Given the description of an element on the screen output the (x, y) to click on. 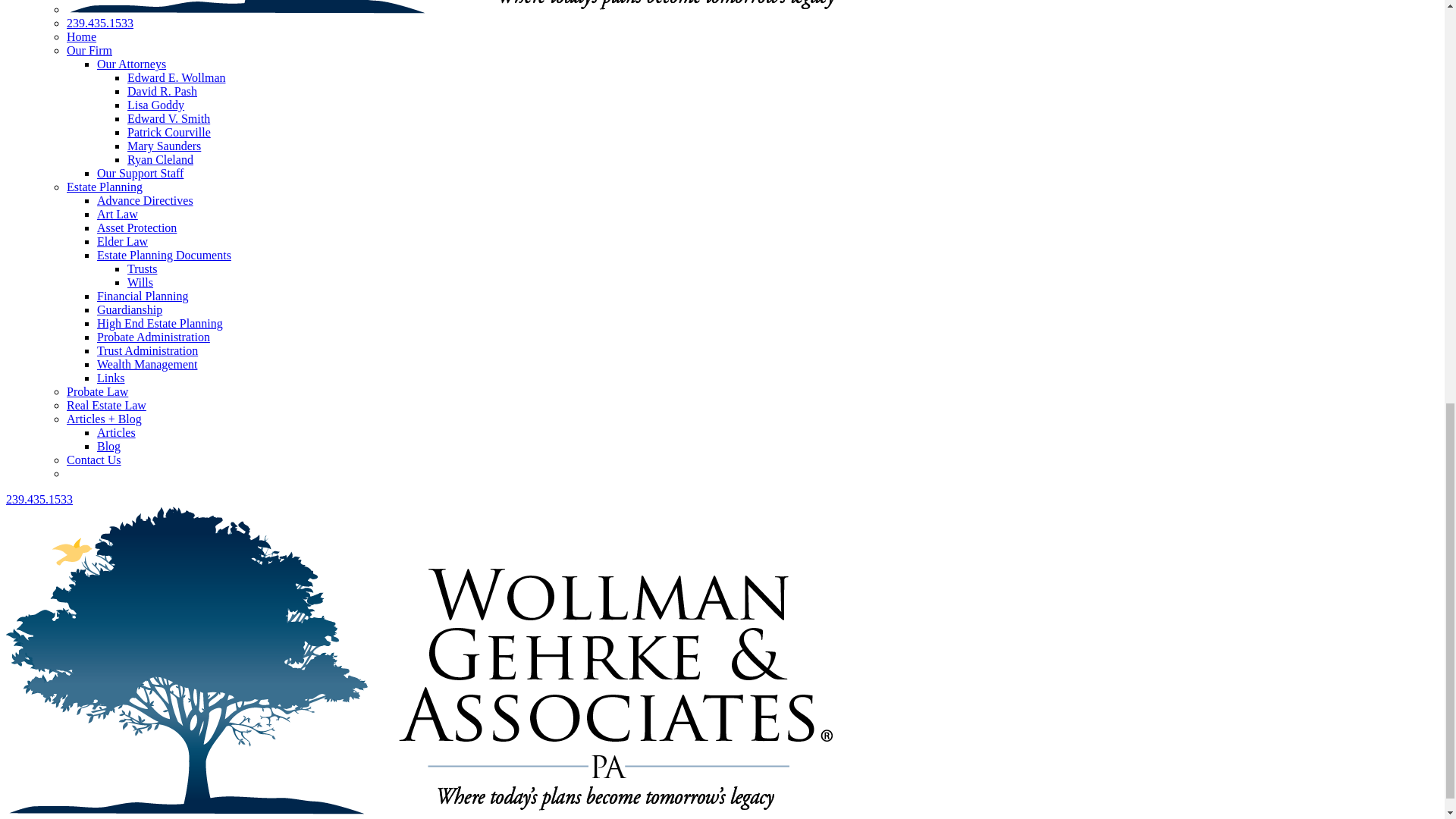
239.435.1533 (99, 22)
Home (81, 36)
Our Firm (89, 50)
